Given the description of an element on the screen output the (x, y) to click on. 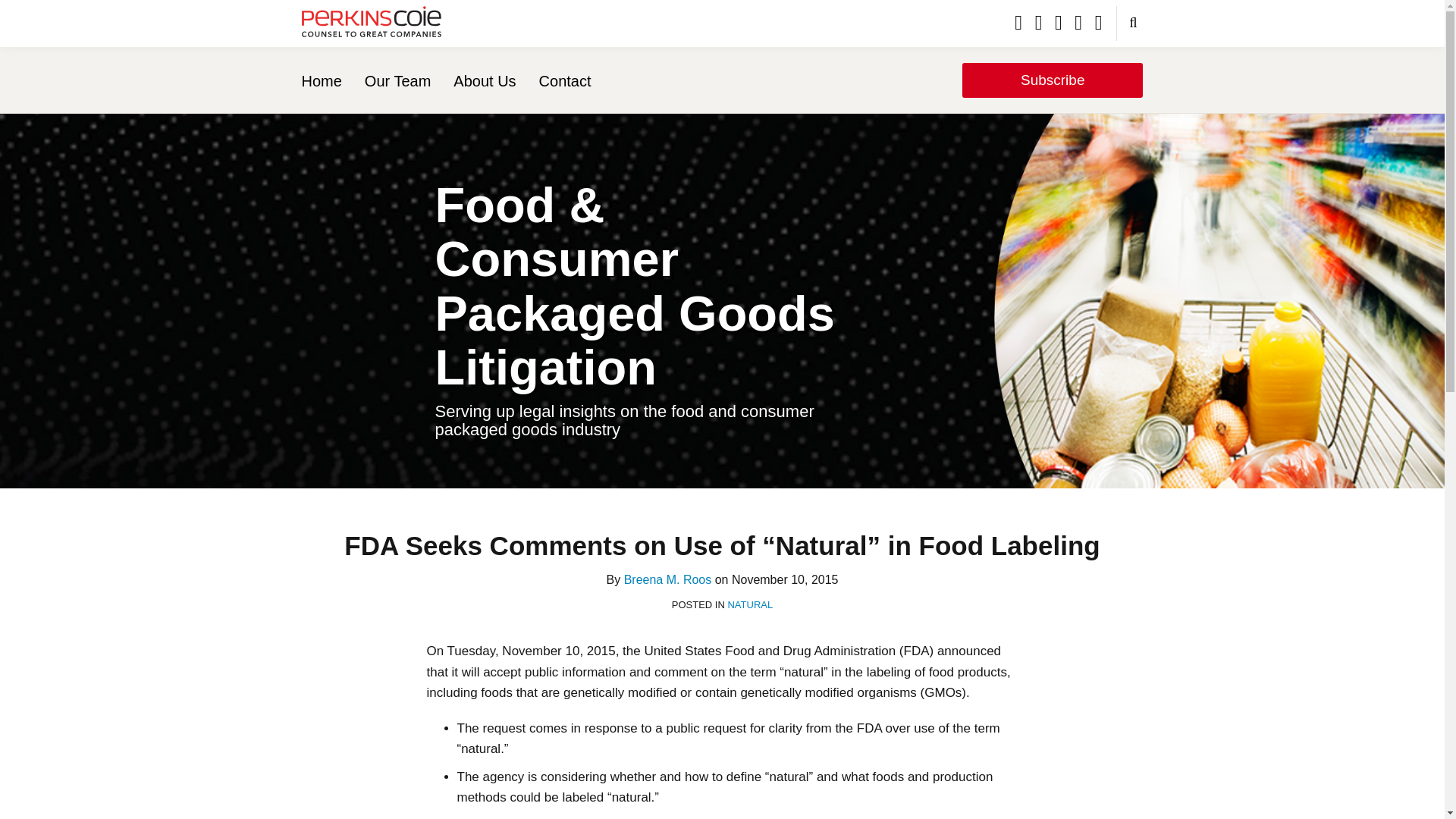
Subscribe (1052, 80)
About Us (483, 81)
Breena M. Roos (667, 579)
Our Team (397, 81)
NATURAL (749, 604)
Contact (564, 81)
Home (321, 81)
